Given the description of an element on the screen output the (x, y) to click on. 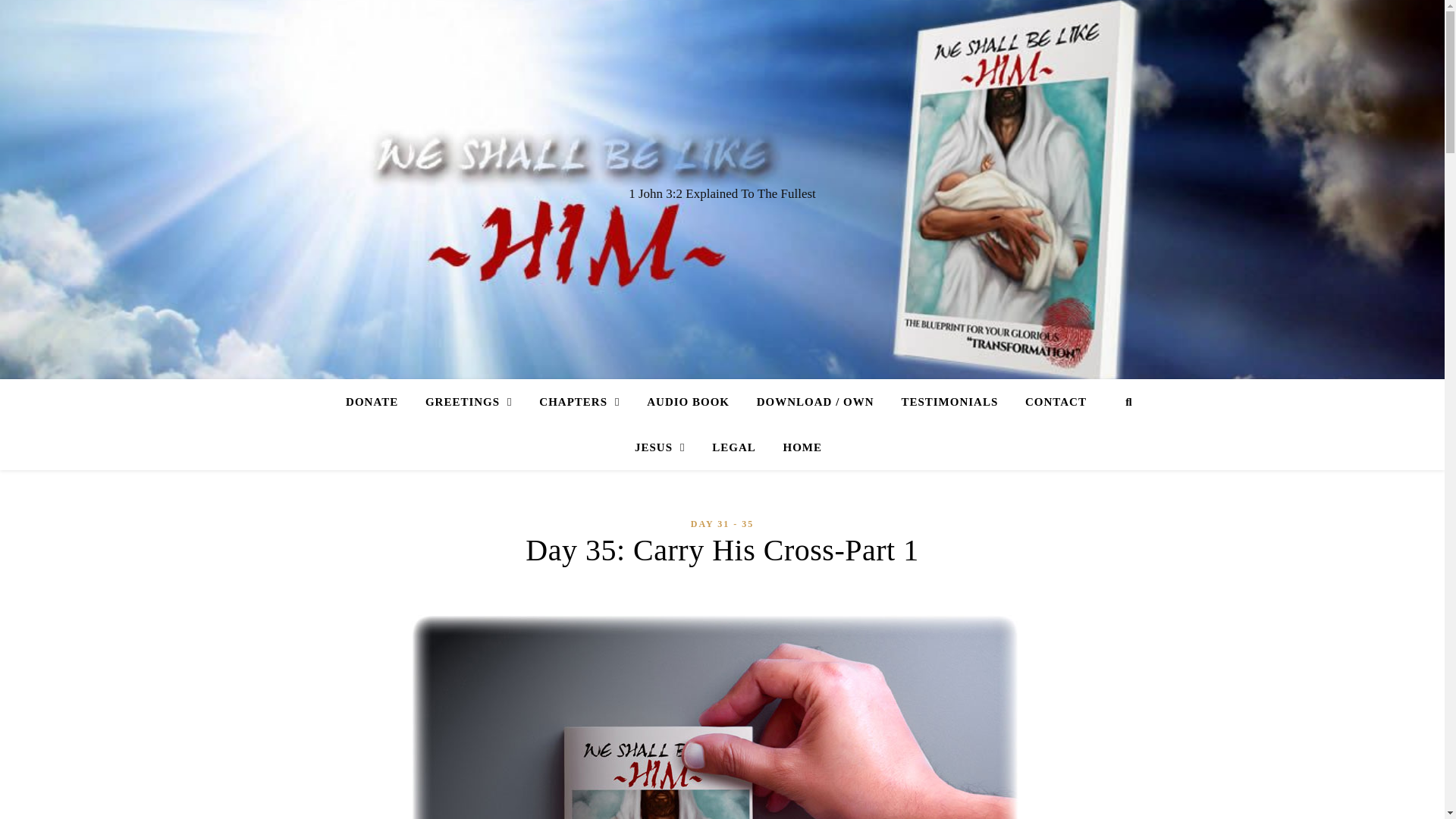
TESTIMONIALS (949, 402)
AUDIO BOOK (687, 402)
JESUS (660, 447)
CHAPTERS (579, 402)
HOME (796, 447)
DONATE (378, 402)
LEGAL (734, 447)
CONTACT (1056, 402)
GREETINGS (468, 402)
